Given the description of an element on the screen output the (x, y) to click on. 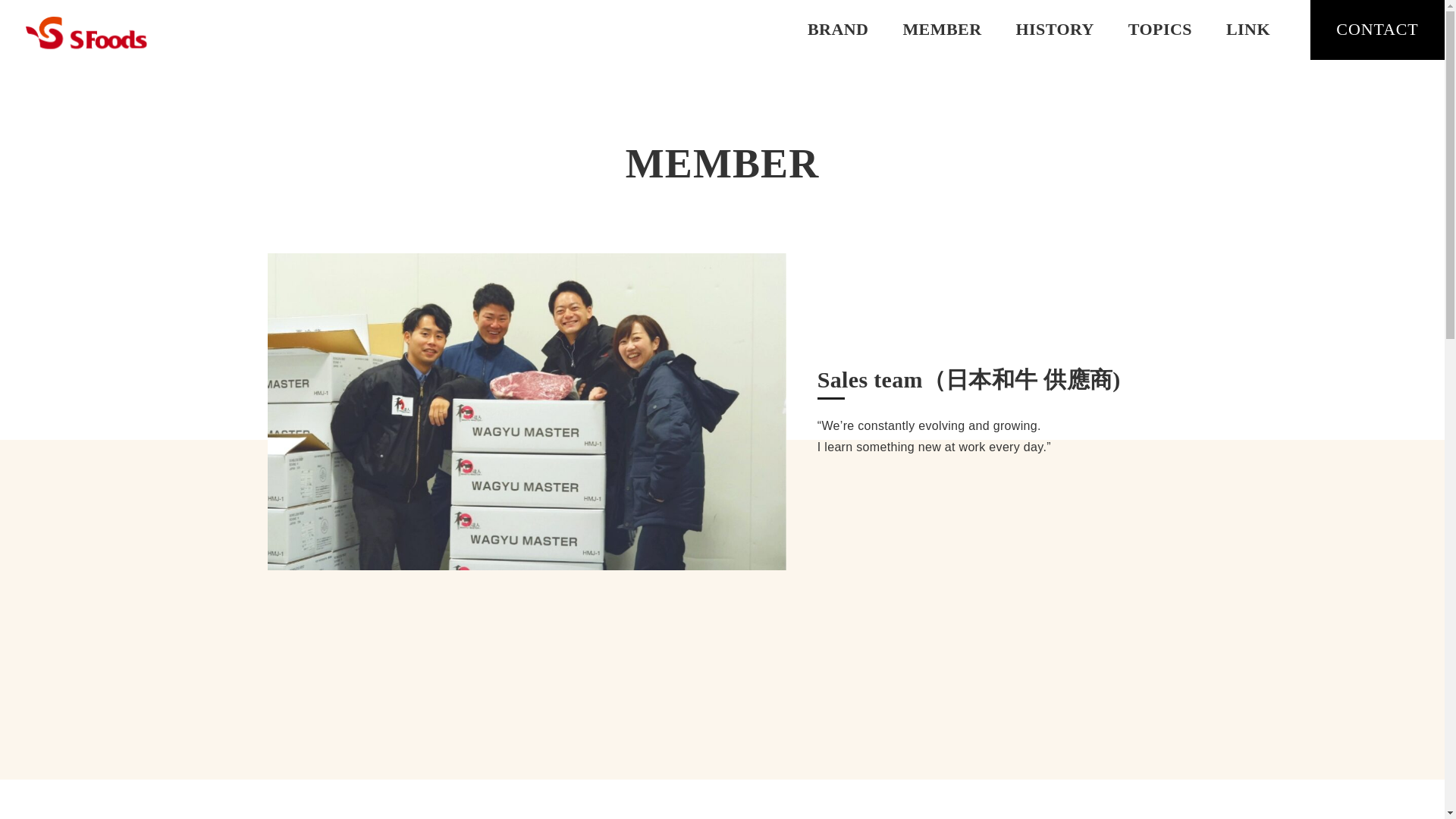
TOPICS (1160, 29)
BRAND (837, 29)
MEMBER (941, 29)
HISTORY (1053, 29)
